Given the description of an element on the screen output the (x, y) to click on. 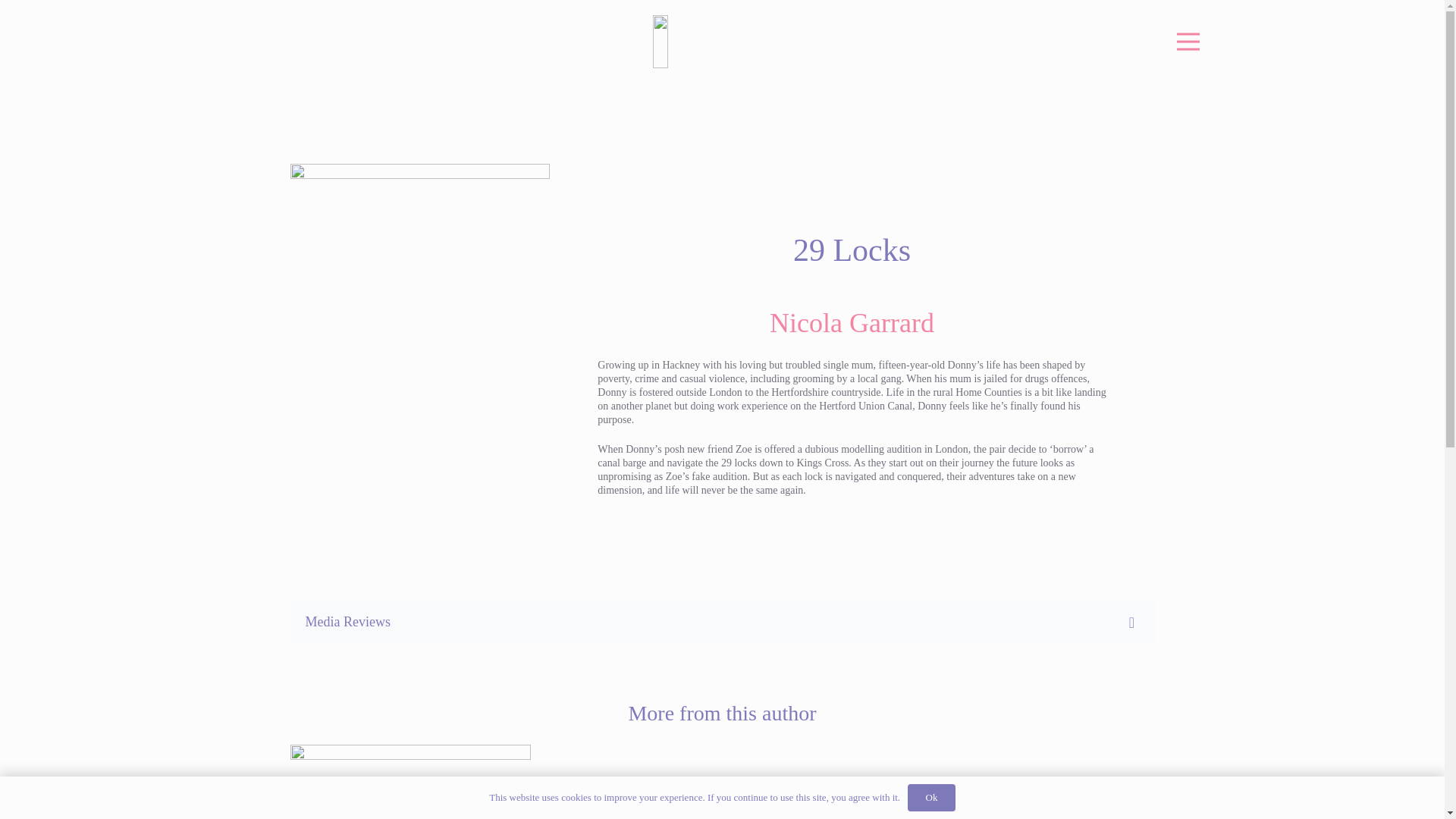
Ok (931, 797)
